Given the description of an element on the screen output the (x, y) to click on. 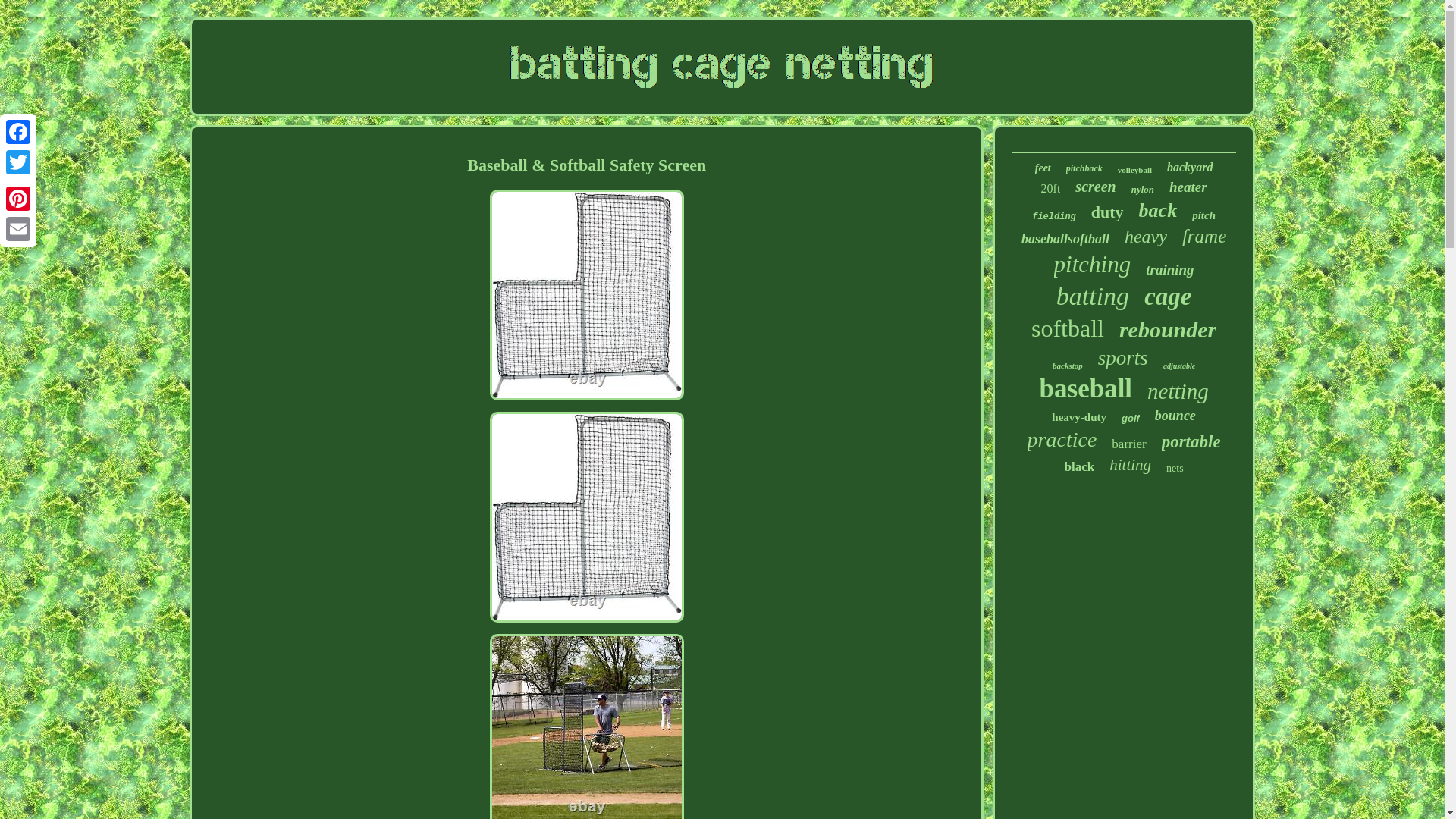
Facebook (17, 132)
feet (1043, 168)
batting (1093, 296)
baseball (1085, 388)
nylon (1142, 189)
fielding (1053, 216)
heater (1188, 187)
pitching (1092, 264)
baseballsoftball (1065, 238)
cage (1167, 296)
